Given the description of an element on the screen output the (x, y) to click on. 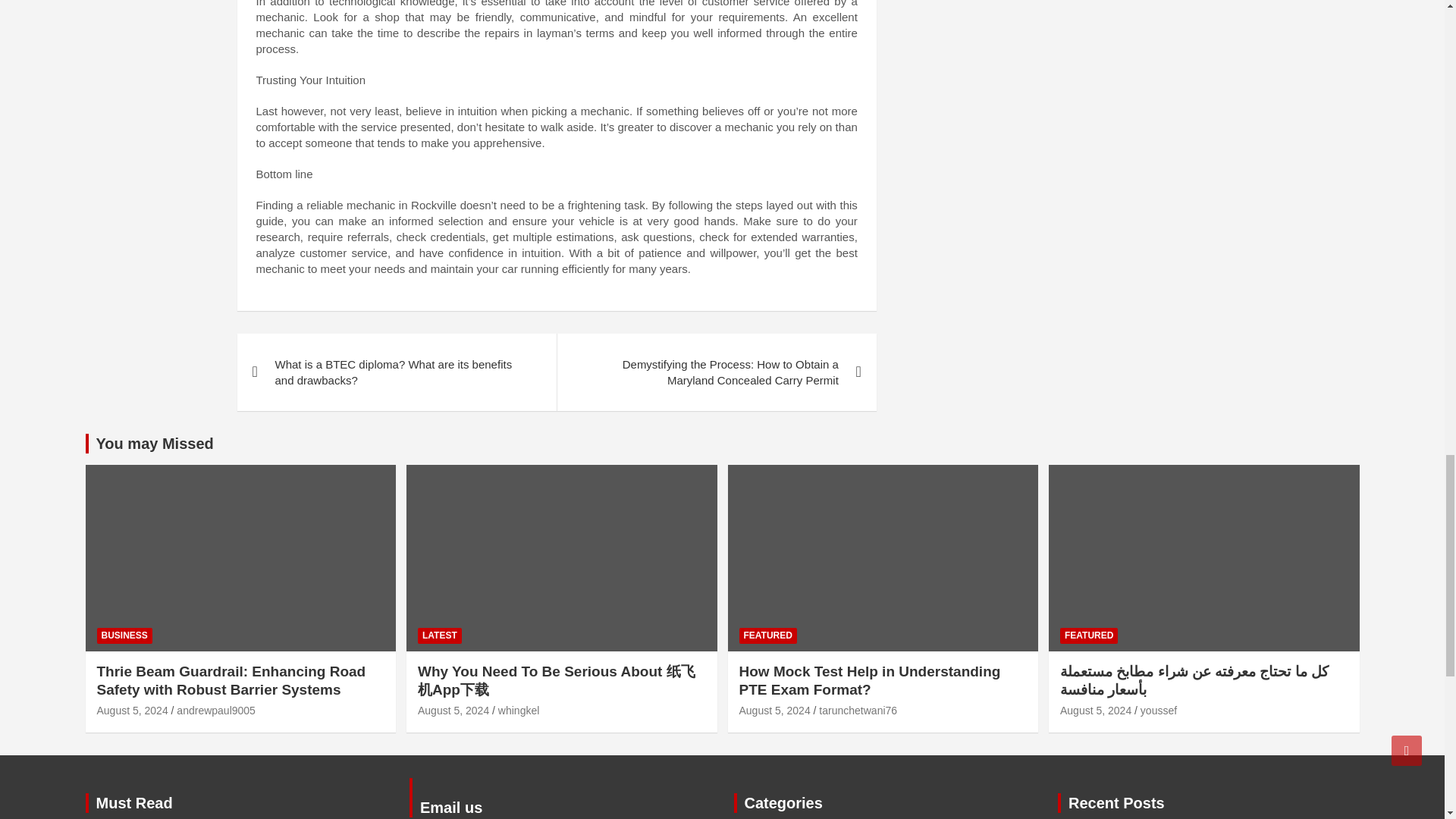
How Mock Test Help in Understanding PTE Exam Format? (773, 710)
What is a BTEC diploma? What are its benefits and drawbacks? (395, 372)
